Given the description of an element on the screen output the (x, y) to click on. 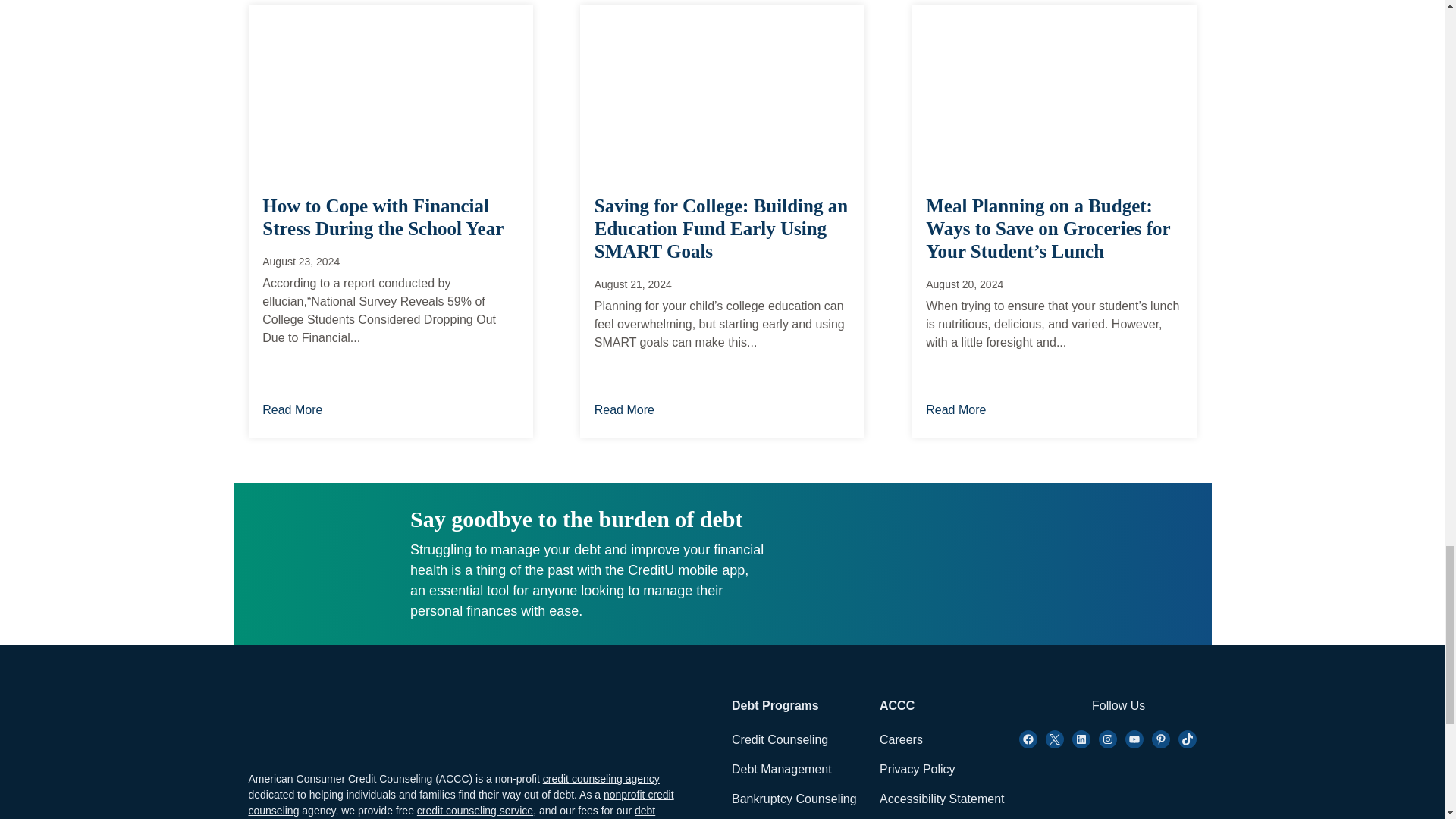
tiktok (1186, 739)
instagram (1080, 739)
youtube (1133, 739)
instagram (1106, 739)
twitter (1053, 739)
pinterest (1160, 739)
facebook (1027, 739)
